Given the description of an element on the screen output the (x, y) to click on. 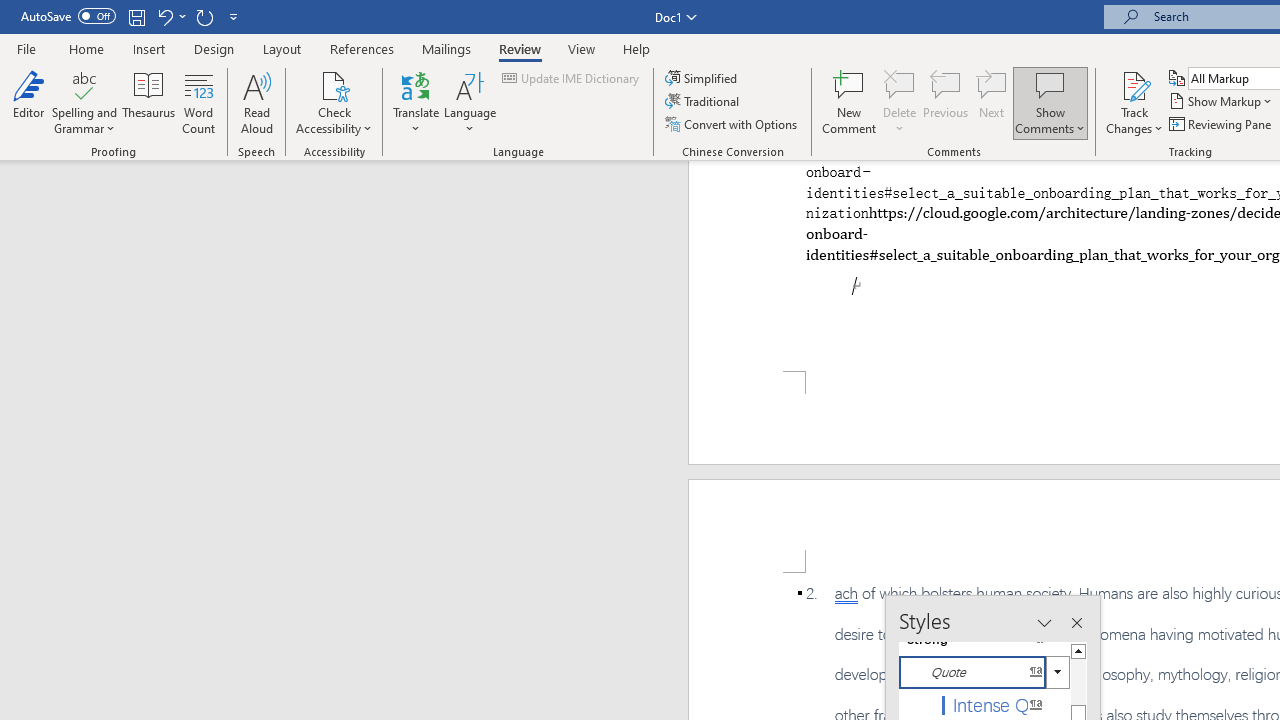
Spelling and Grammar (84, 102)
Undo Style (164, 15)
Show Markup (1222, 101)
Undo Style (170, 15)
Check Accessibility (334, 102)
Translate (415, 102)
Track Changes (1134, 84)
Word Count (198, 102)
